Given the description of an element on the screen output the (x, y) to click on. 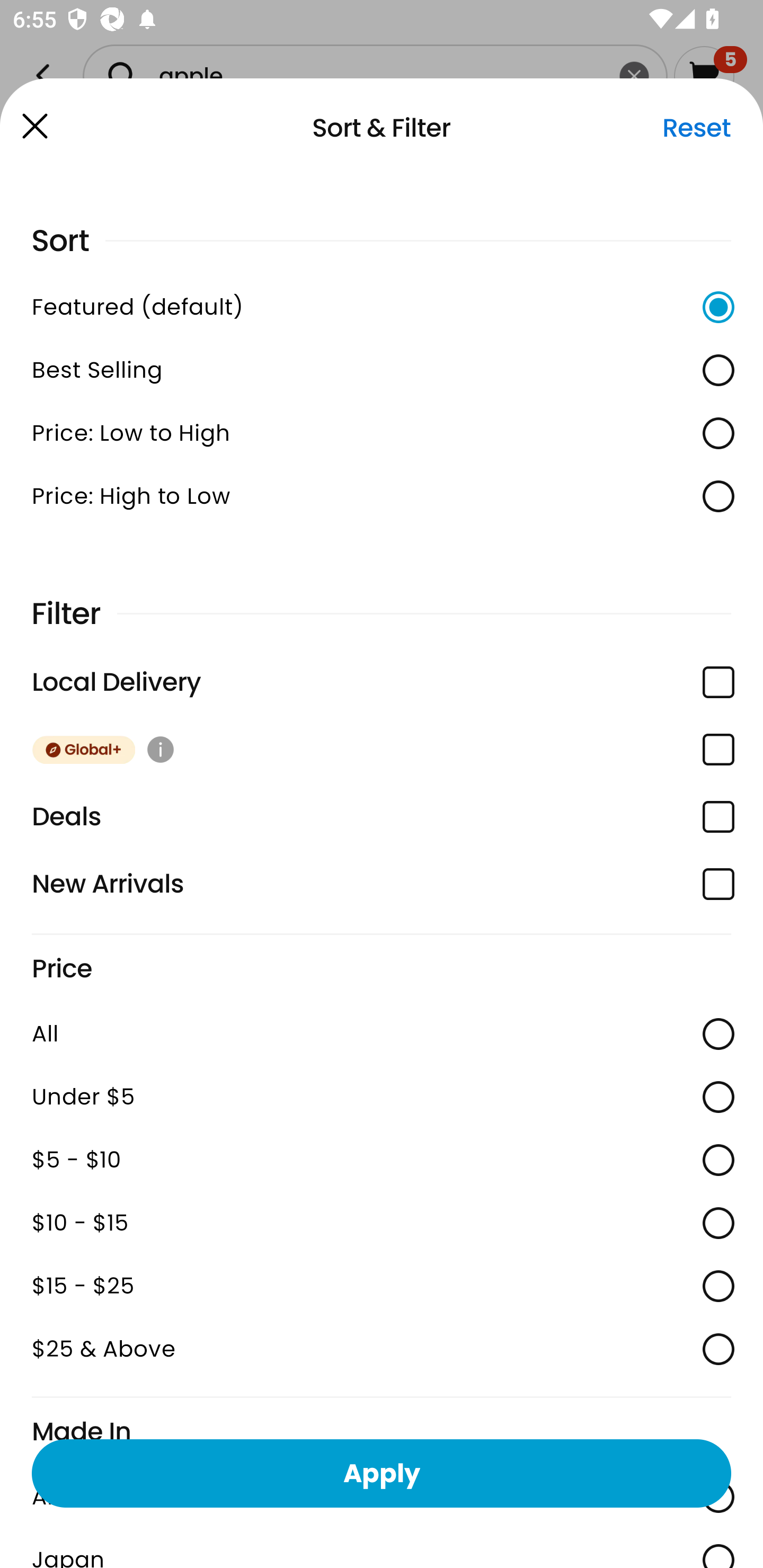
Reset (696, 127)
Apply (381, 1472)
